Given the description of an element on the screen output the (x, y) to click on. 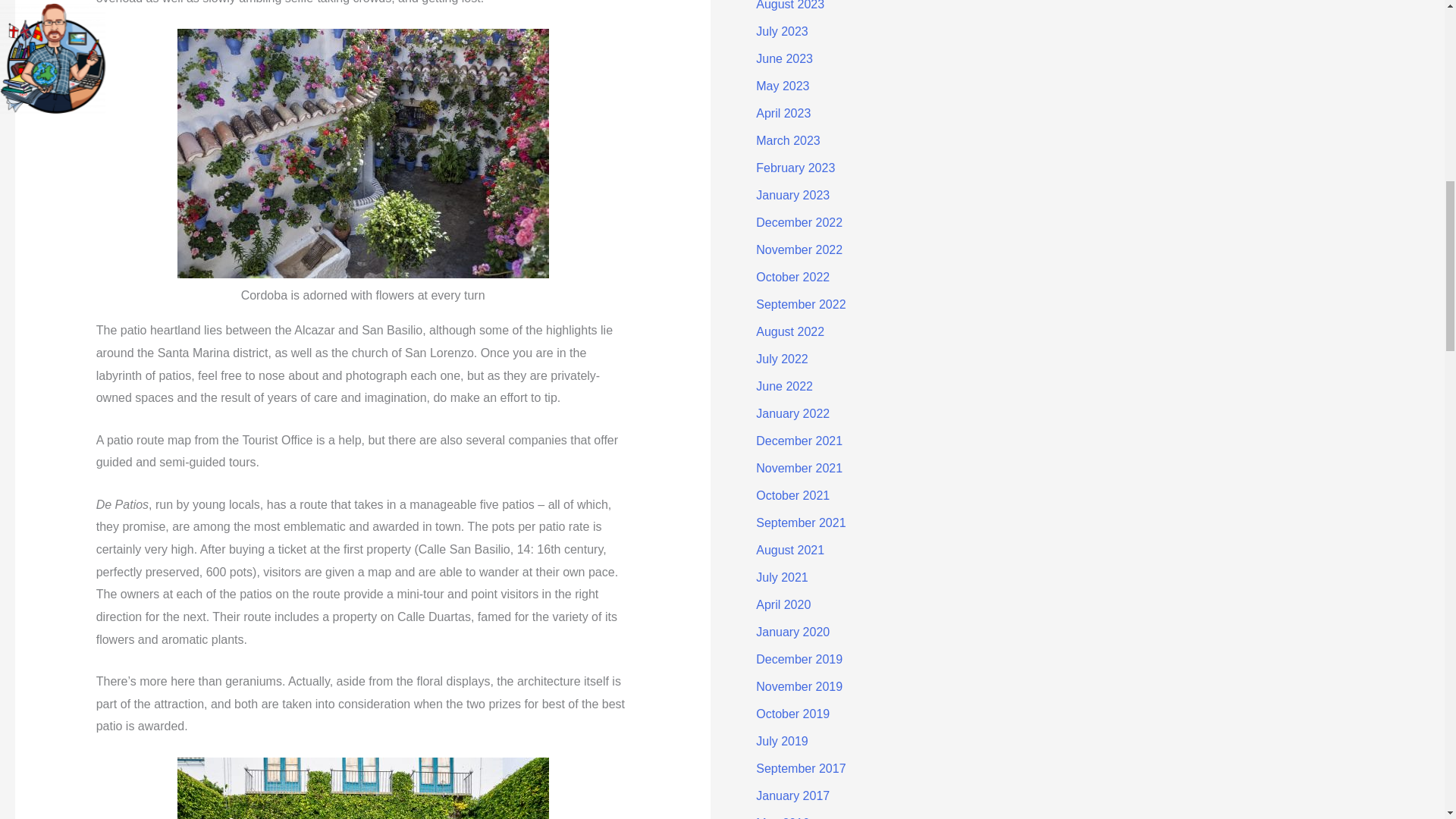
April 2023 (782, 113)
July 2023 (781, 31)
August 2023 (789, 5)
June 2023 (783, 58)
May 2023 (782, 85)
